Given the description of an element on the screen output the (x, y) to click on. 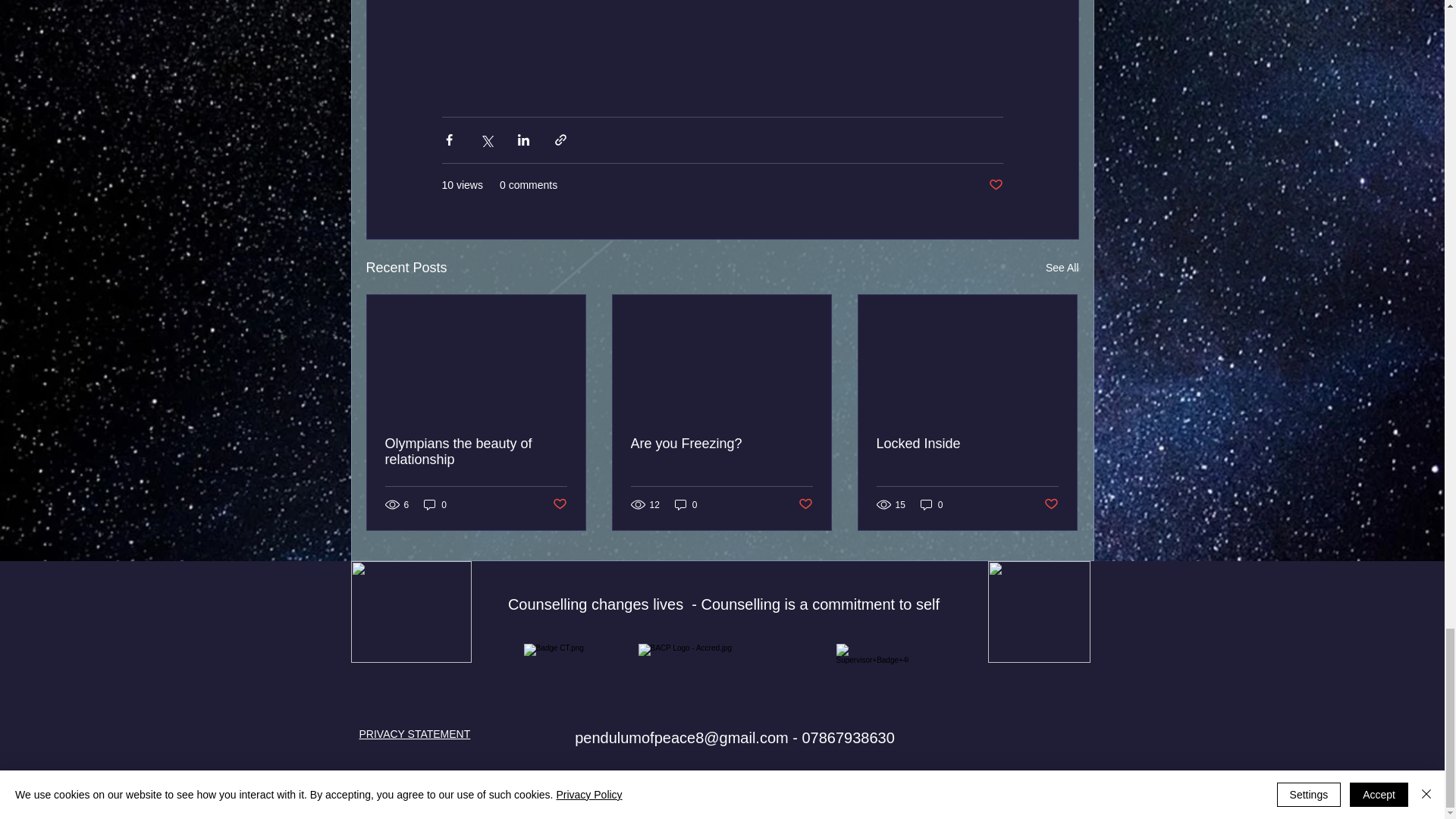
Olympians the beauty of relationship (476, 451)
Post not marked as liked (1050, 504)
Locked Inside (967, 443)
0 (685, 504)
See All (1061, 268)
0 (435, 504)
Are you Freezing? (721, 443)
PRIVACY STATEMENT (414, 734)
Post not marked as liked (558, 504)
0 (931, 504)
